Given the description of an element on the screen output the (x, y) to click on. 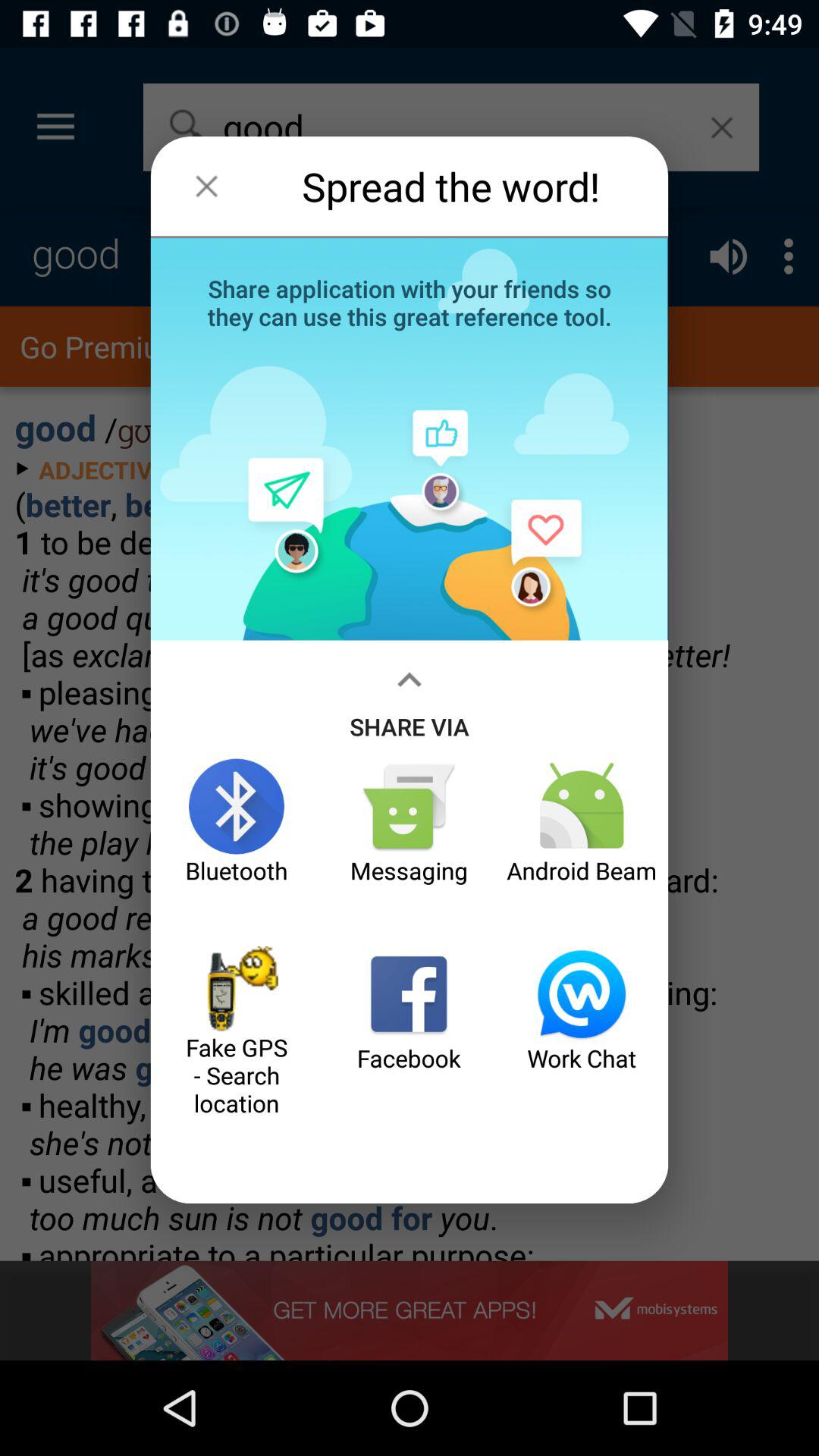
turn on the share via item (409, 699)
